Given the description of an element on the screen output the (x, y) to click on. 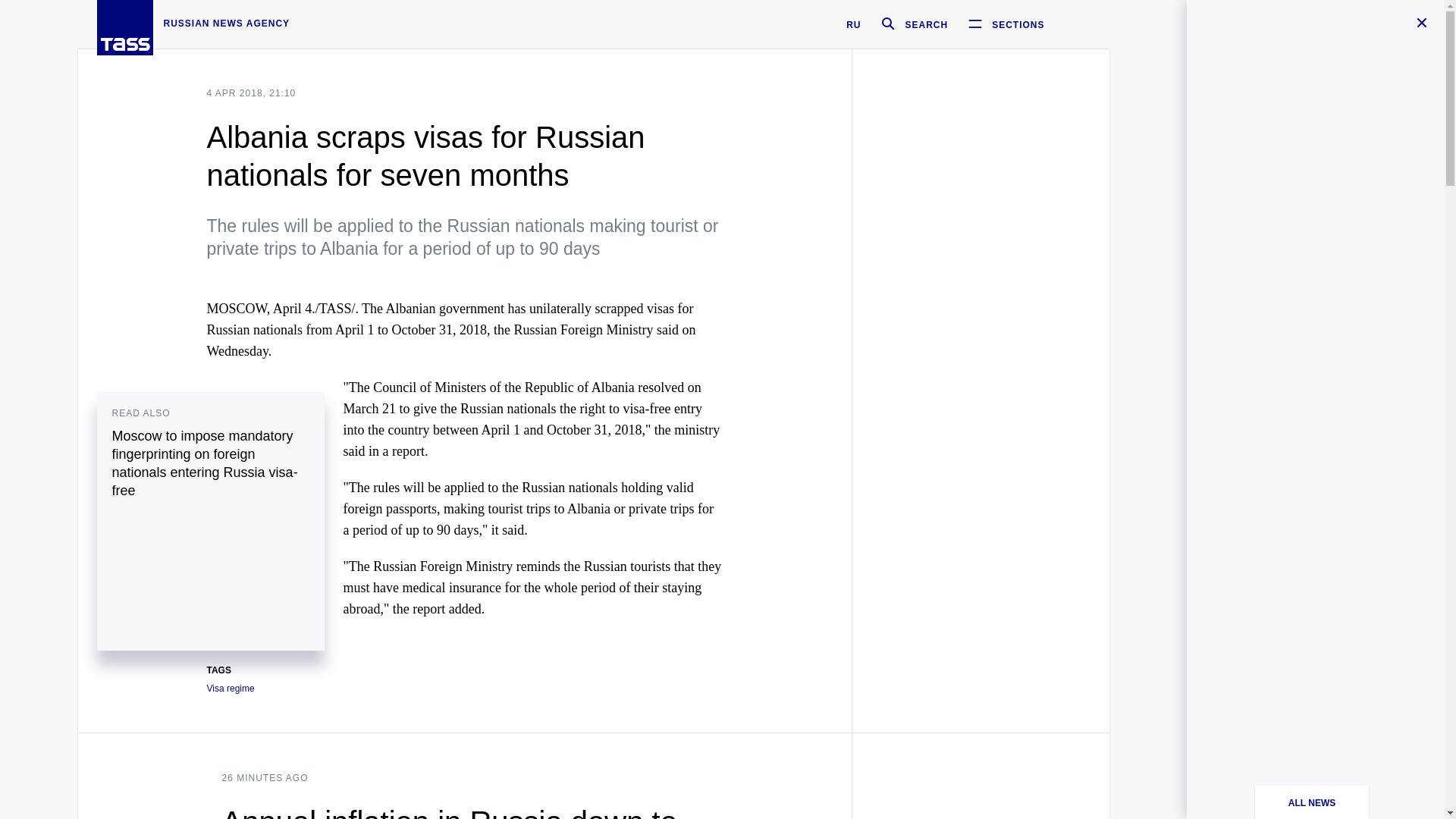
SEARCH (908, 24)
RU (852, 24)
